Given the description of an element on the screen output the (x, y) to click on. 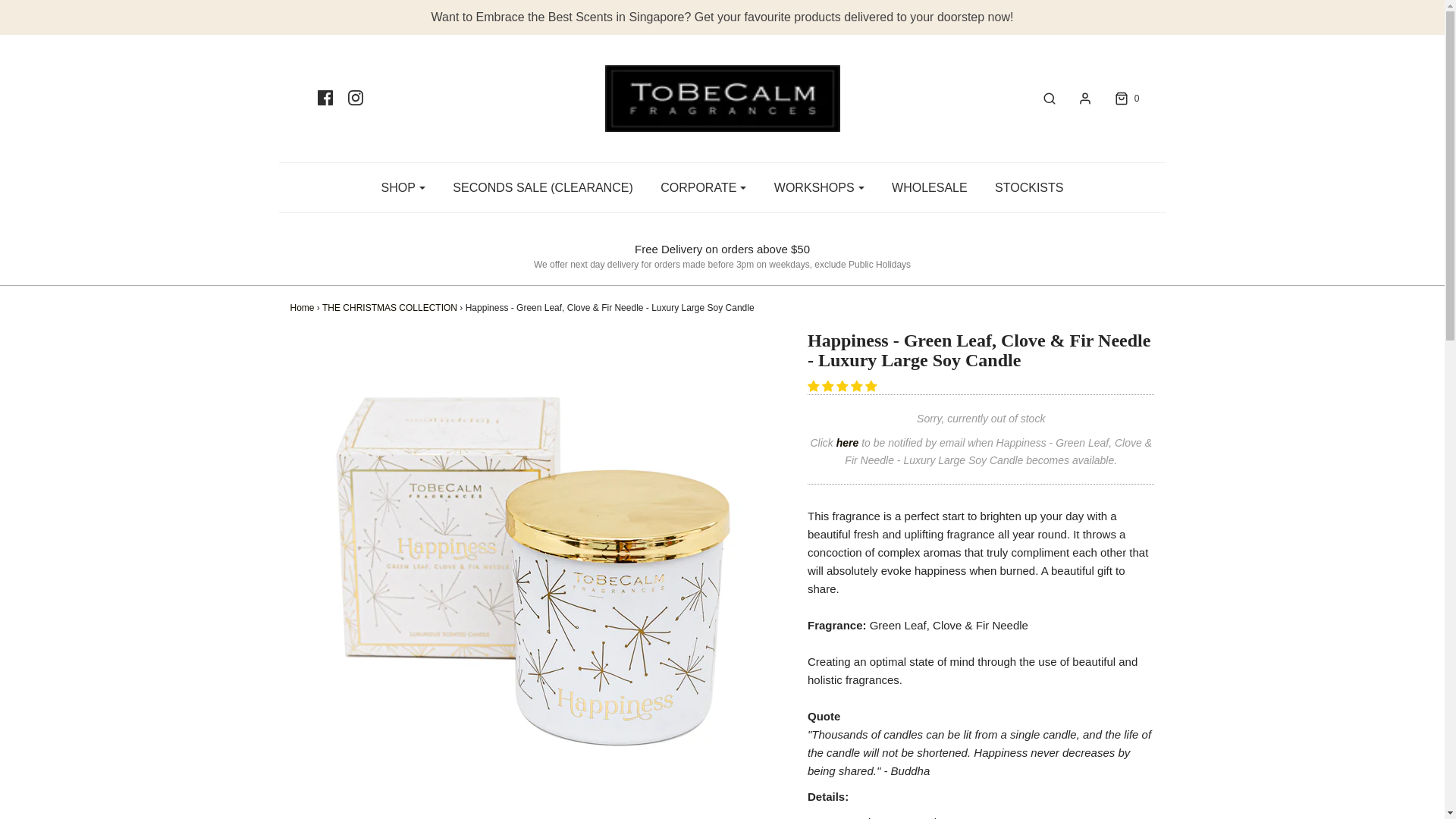
Back to the frontpage (301, 307)
Search (1103, 2)
Instagram icon (354, 97)
Search (1041, 98)
Log in (1077, 98)
Cart (1118, 98)
Facebook icon (324, 97)
